Given the description of an element on the screen output the (x, y) to click on. 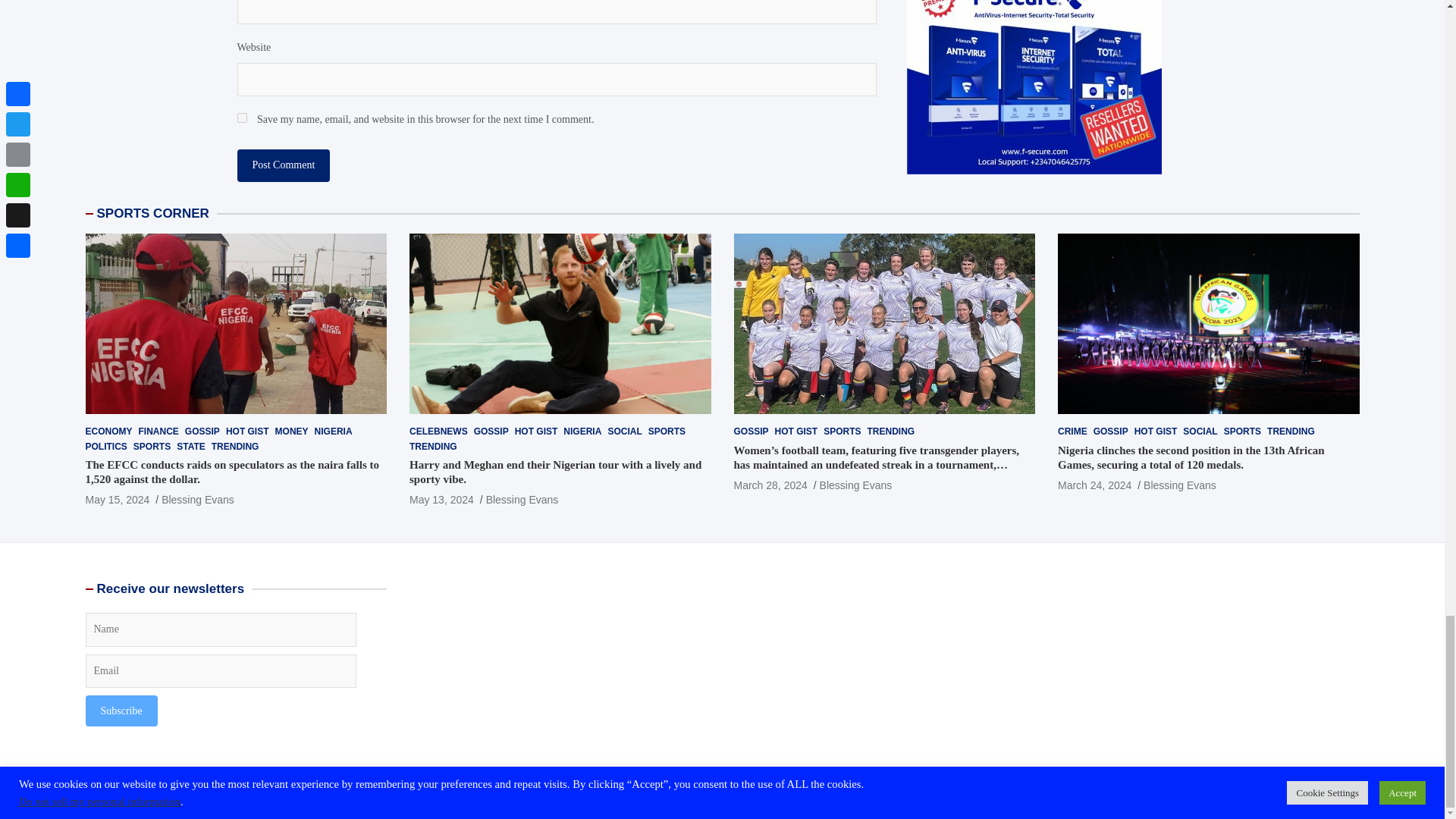
yes (240, 117)
ECONOMY (108, 431)
Subscribe (120, 710)
FINANCE (158, 431)
SPORTS CORNER (153, 213)
GOSSIP (201, 431)
Post Comment (282, 164)
Post Comment (282, 164)
